Given the description of an element on the screen output the (x, y) to click on. 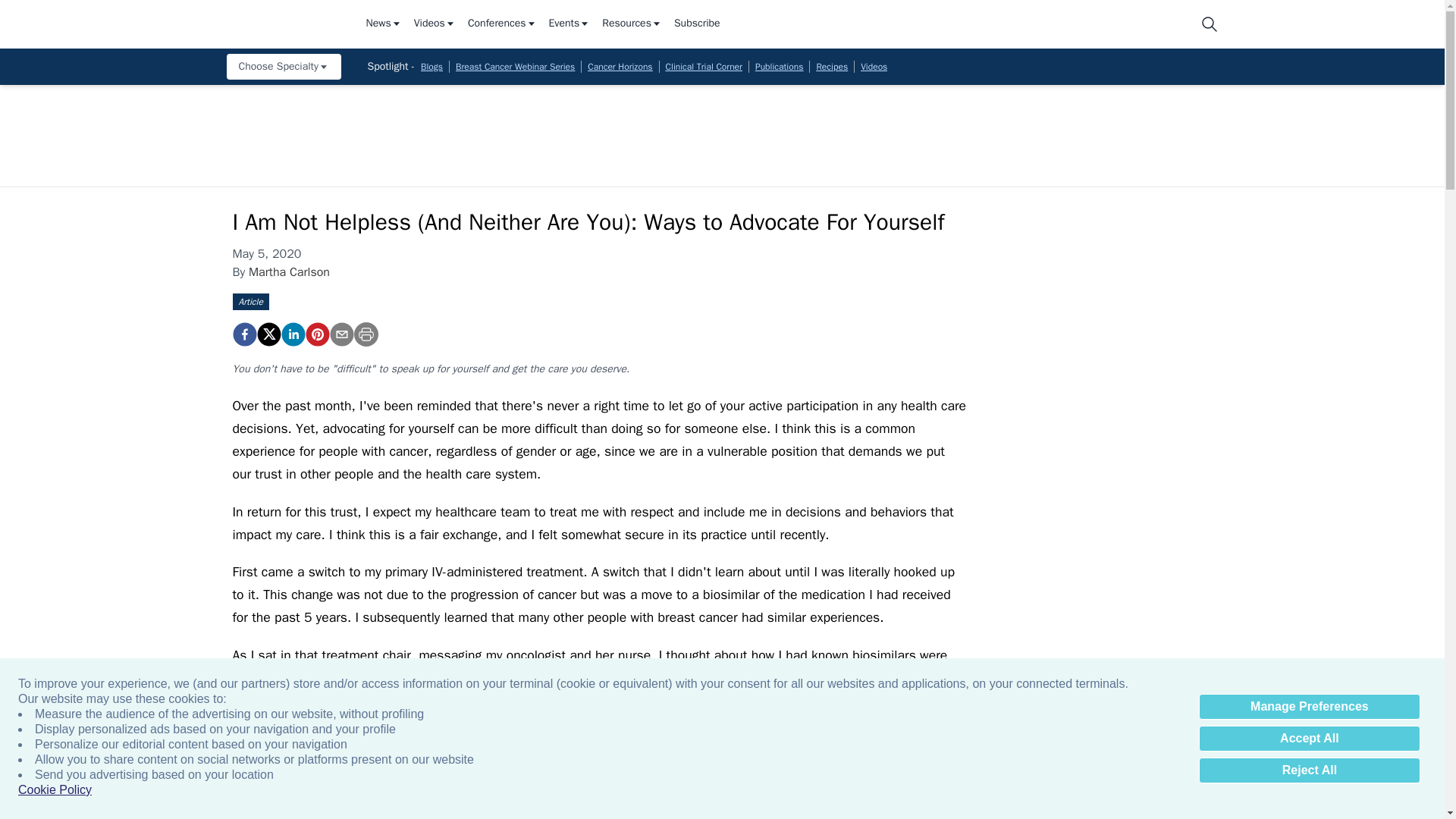
Conferences (502, 23)
Events (569, 23)
Videos (434, 23)
Reject All (1309, 769)
Manage Preferences (1309, 706)
Resources (632, 23)
Accept All (1309, 738)
Cookie Policy (54, 789)
News (383, 23)
